Given the description of an element on the screen output the (x, y) to click on. 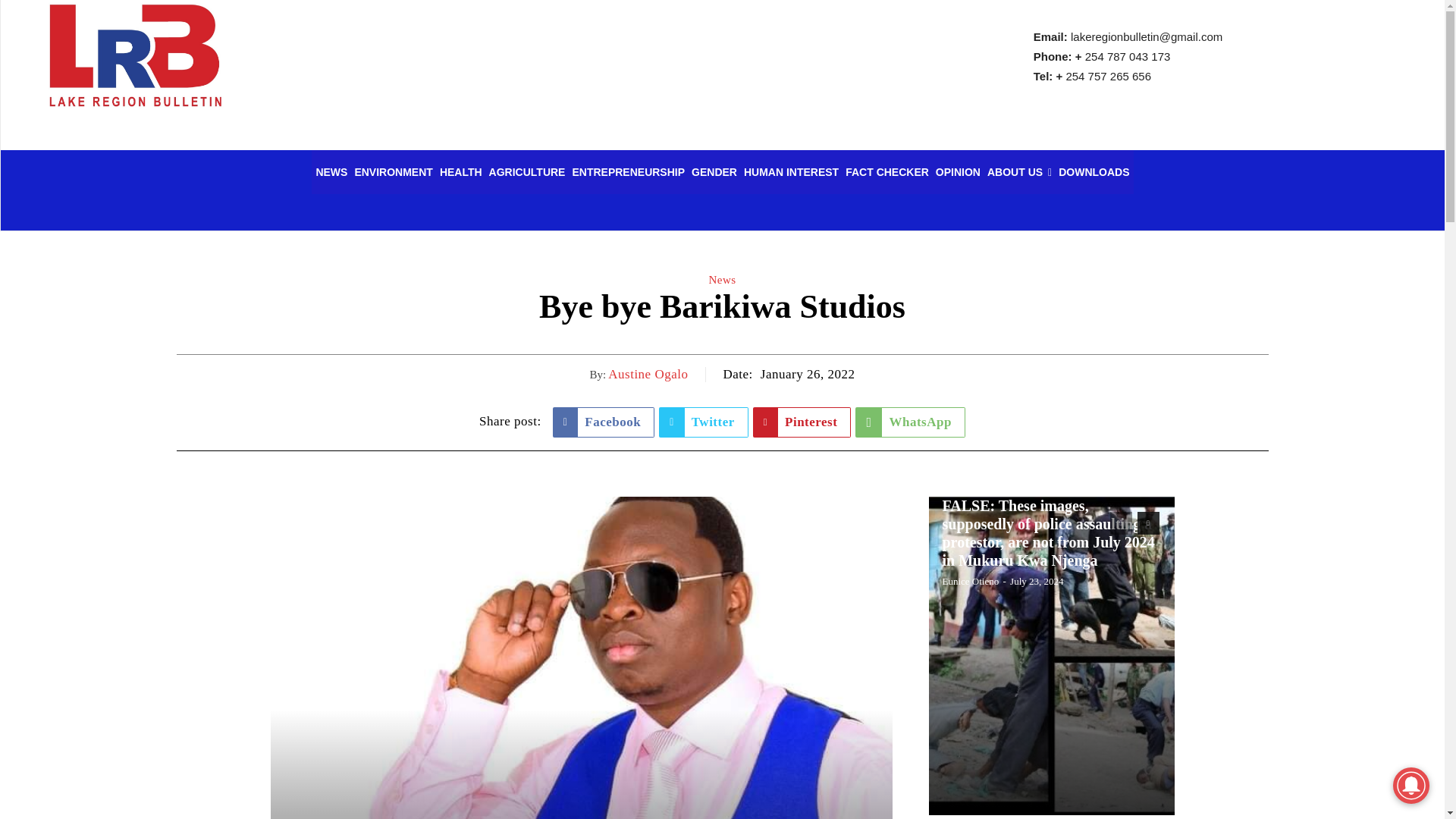
HUMAN INTEREST (791, 171)
Twitter (703, 422)
ENTREPRENEURSHIP (627, 171)
NEWS (330, 171)
HEALTH (460, 171)
Facebook (604, 422)
Pinterest (801, 422)
ABOUT US (1019, 171)
OPINION (957, 171)
GENDER (714, 171)
FACT CHECKER (887, 171)
AGRICULTURE (526, 171)
WhatsApp (910, 422)
ENVIRONMENT (392, 171)
